Given the description of an element on the screen output the (x, y) to click on. 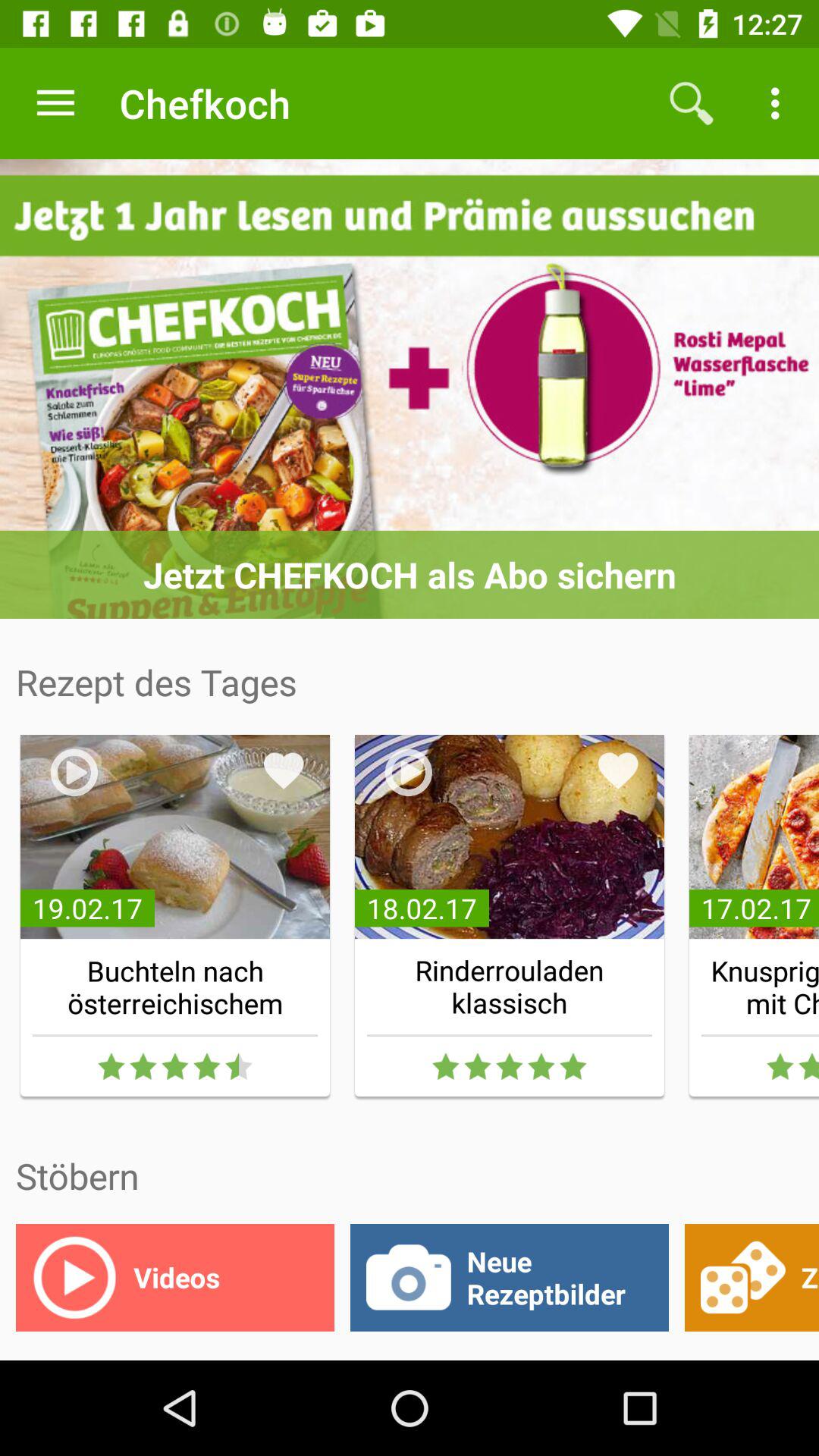
launch the icon next to the chefkoch icon (55, 103)
